Given the description of an element on the screen output the (x, y) to click on. 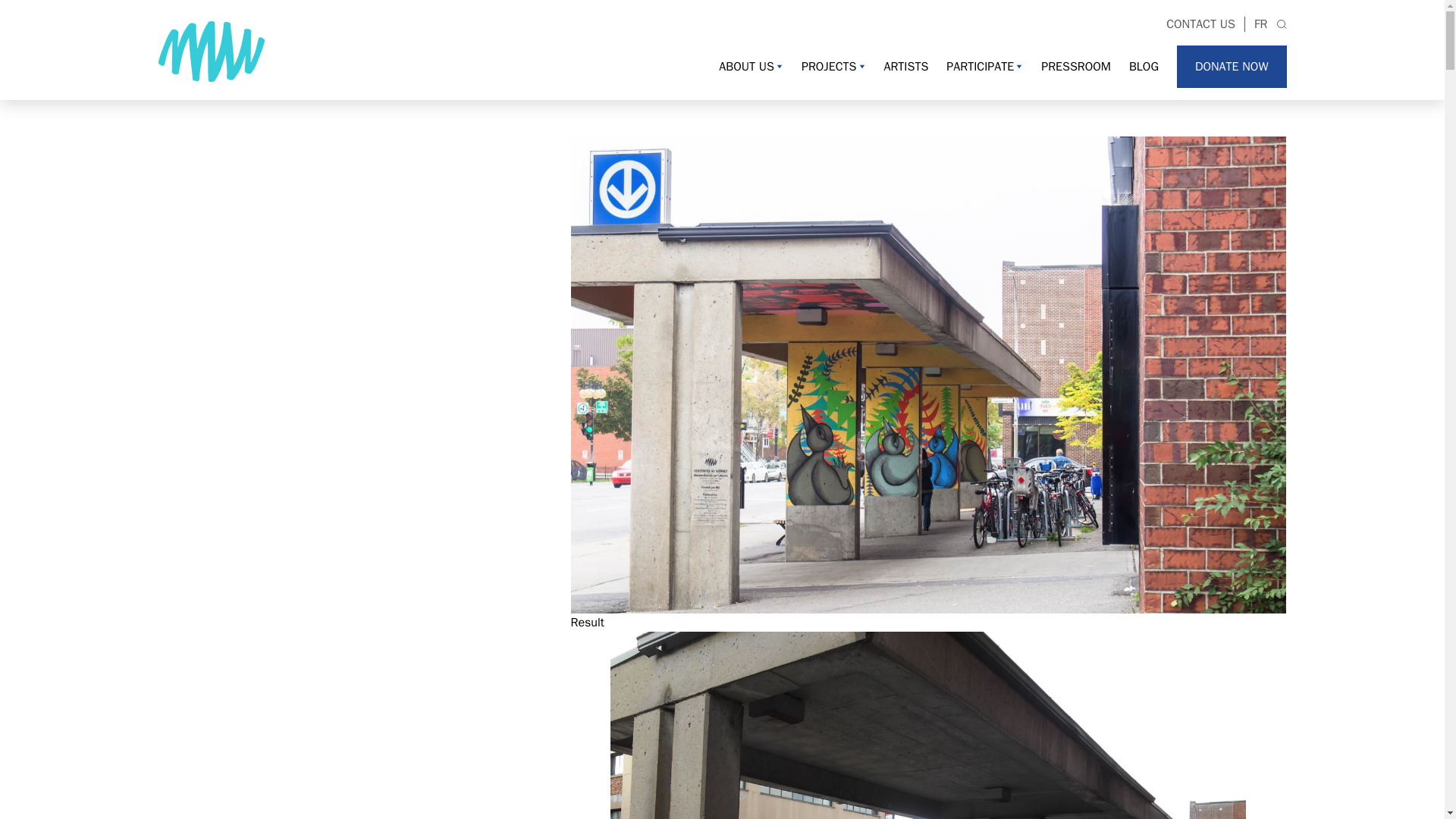
CONTACT US (1200, 23)
PROJECTS (834, 66)
ABOUT US (751, 66)
ARTISTS (905, 66)
PARTICIPATE (984, 66)
DONATE NOW (1231, 66)
PRESSROOM (1075, 66)
FR (1260, 23)
